Given the description of an element on the screen output the (x, y) to click on. 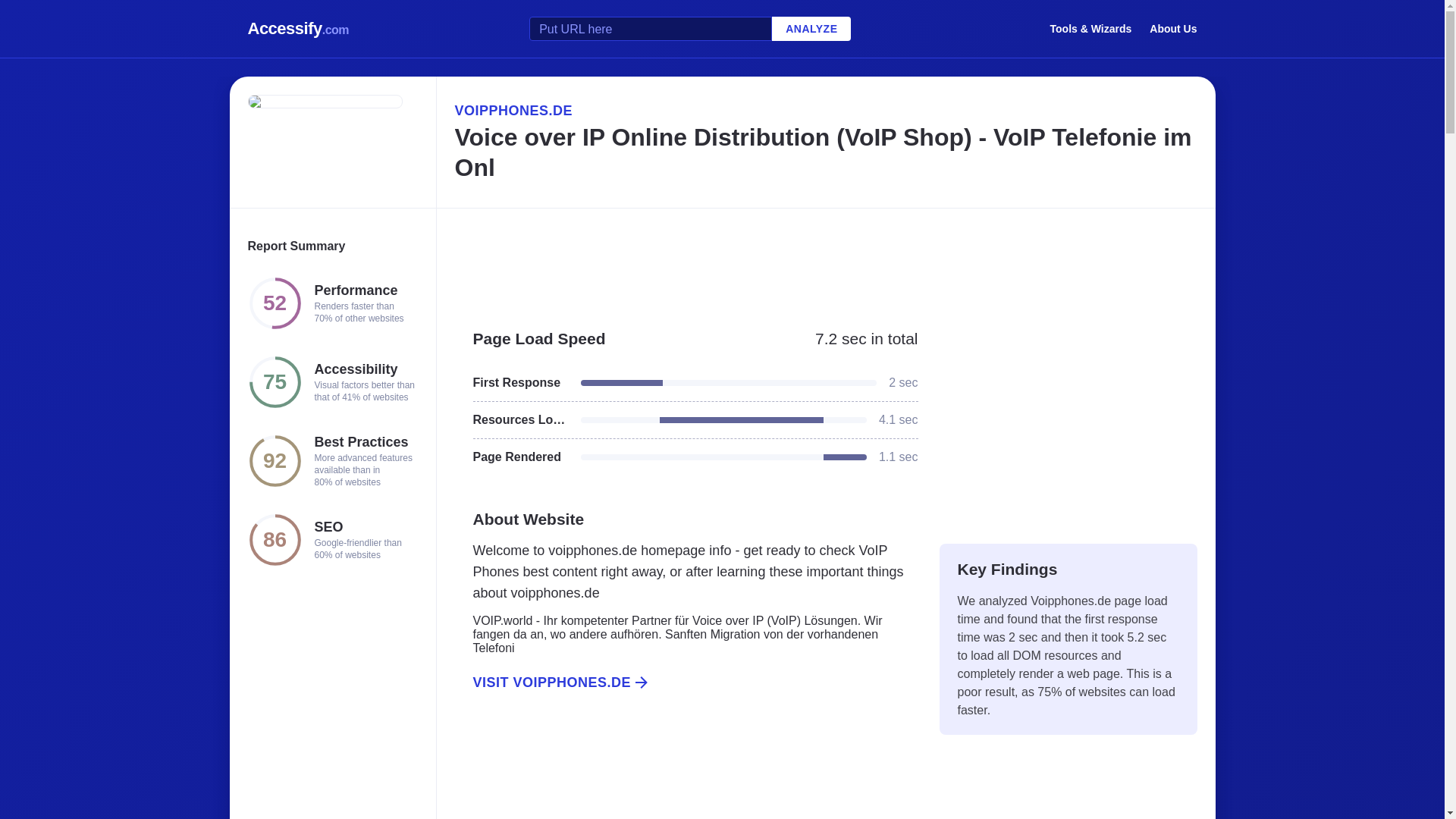
Accessify.com (298, 28)
About Us (1173, 28)
VOIPPHONES.DE (825, 110)
ANALYZE (810, 28)
VISIT VOIPPHONES.DE (686, 682)
